Given the description of an element on the screen output the (x, y) to click on. 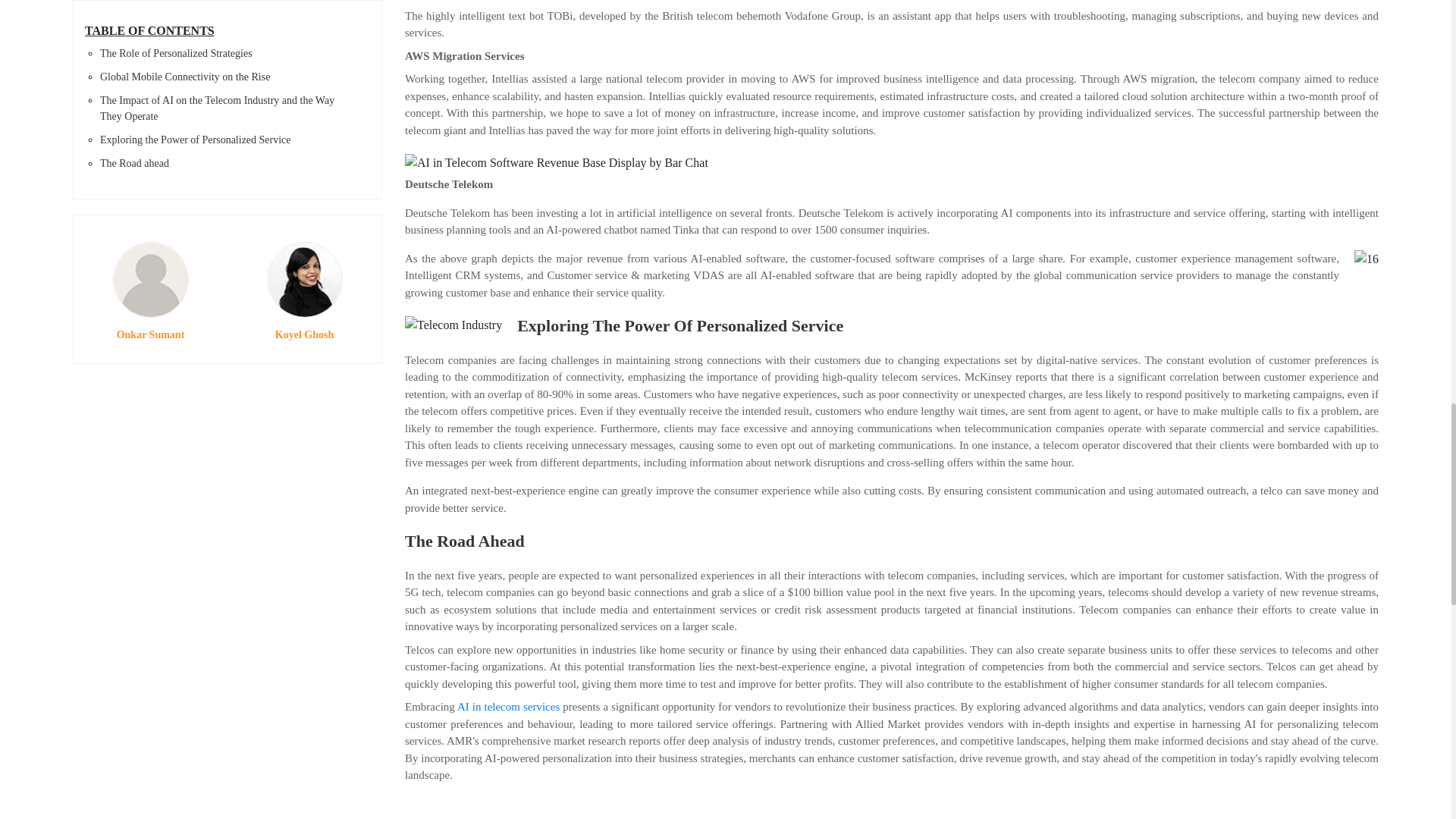
16 (1366, 259)
AI in Telecom Software Revenue Base Display by Bar Chat (555, 162)
Telecom Industry (453, 325)
AI in telecom services (508, 706)
